Given the description of an element on the screen output the (x, y) to click on. 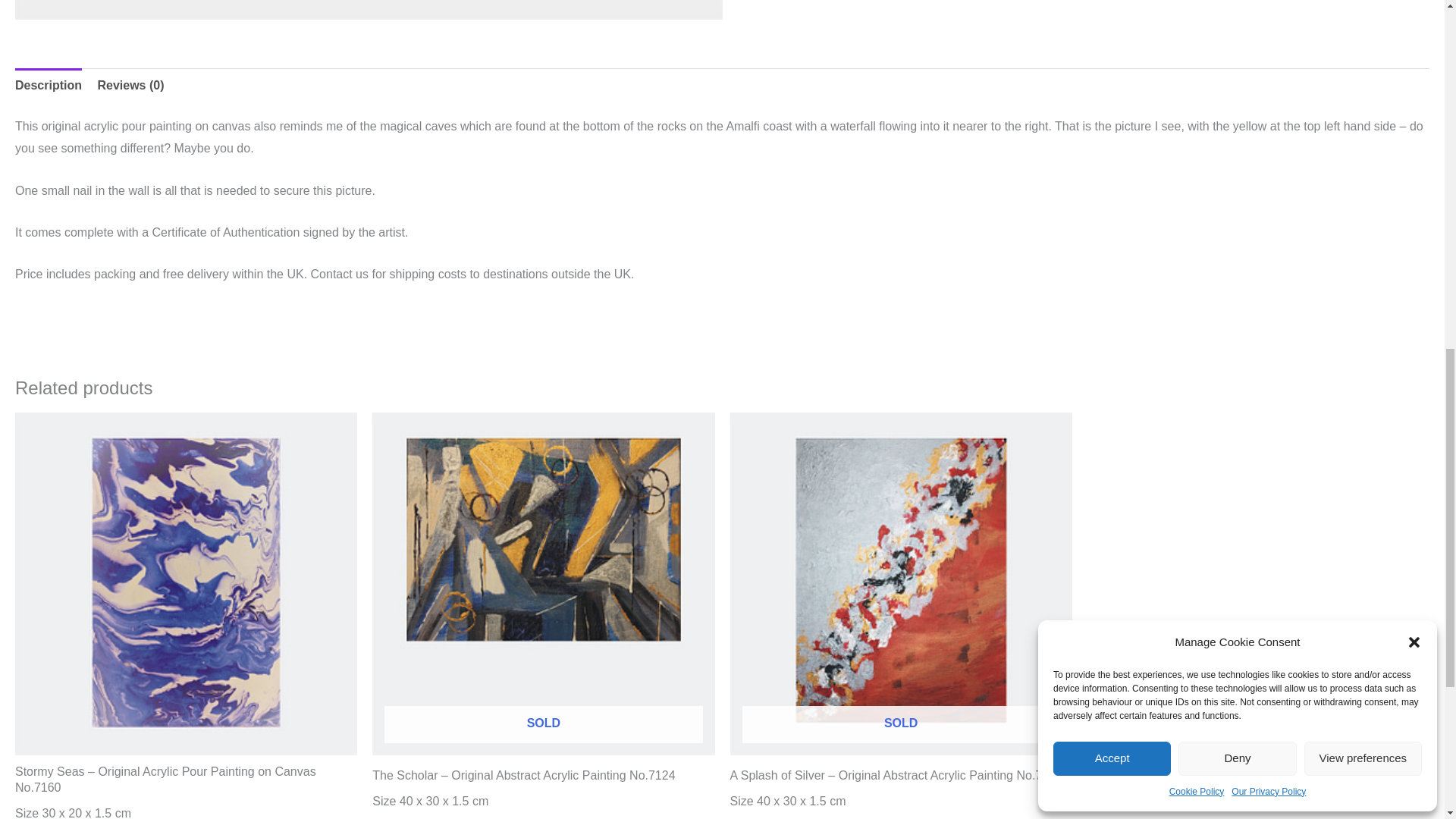
7417A (368, 10)
